Given the description of an element on the screen output the (x, y) to click on. 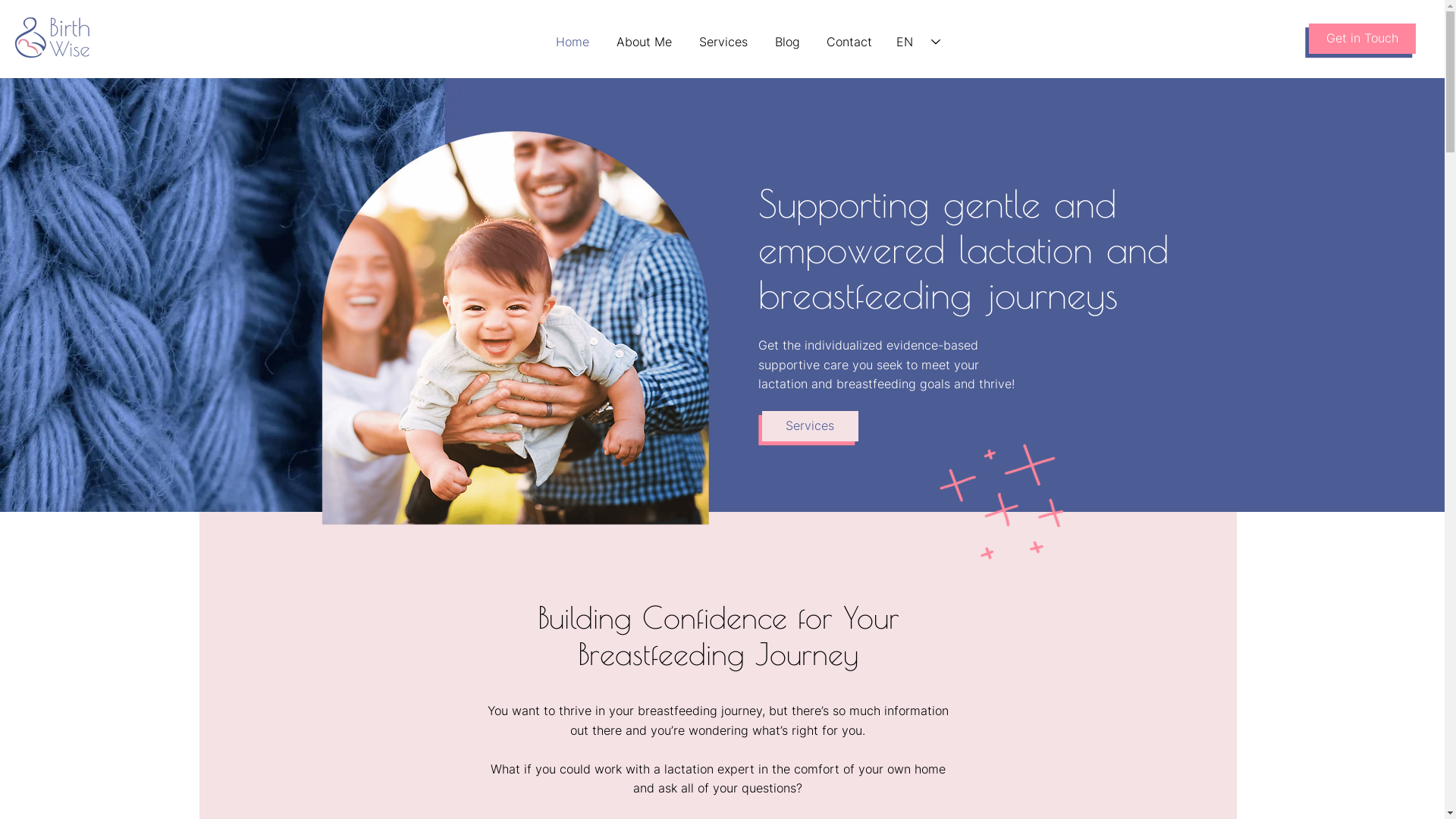
About Me Element type: text (643, 41)
Blog Element type: text (786, 41)
Services Element type: text (723, 41)
Home Element type: text (572, 41)
Get in Touch Element type: text (1361, 38)
Services Element type: text (809, 426)
Contact Element type: text (848, 41)
